Given the description of an element on the screen output the (x, y) to click on. 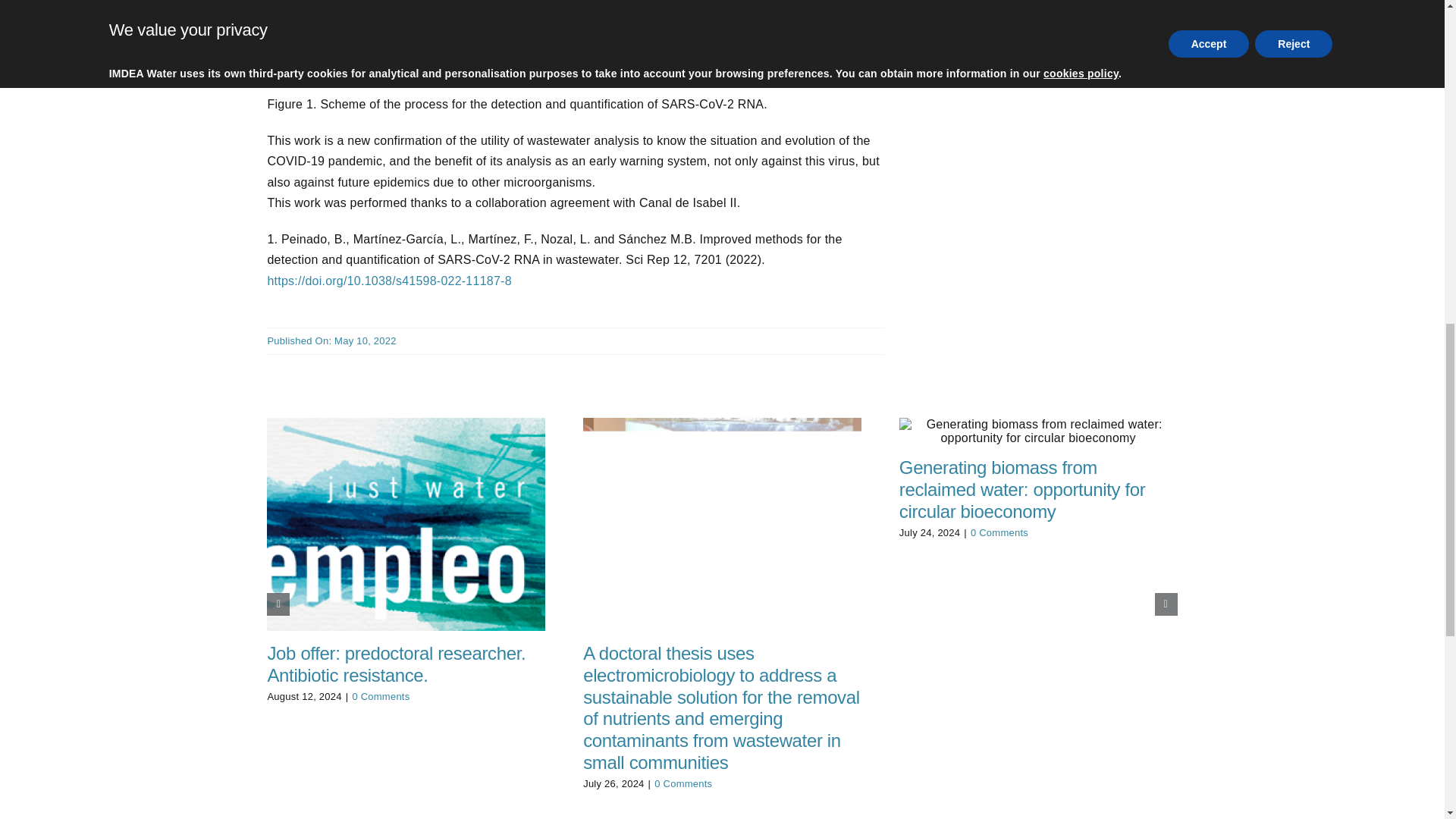
Job offer: predoctoral researcher. Antibiotic resistance. (395, 663)
